Given the description of an element on the screen output the (x, y) to click on. 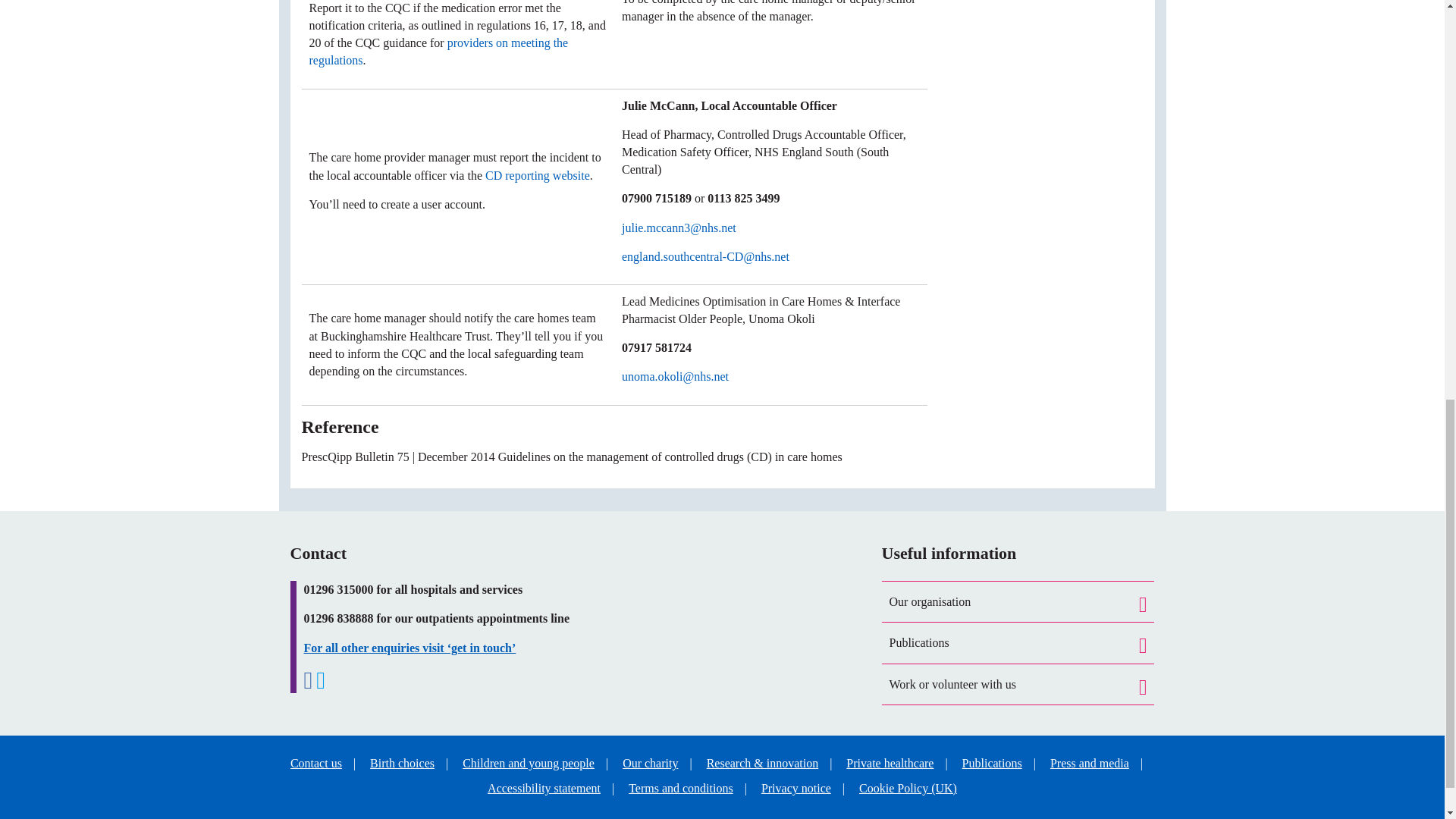
Our organisation (1017, 601)
Birth choices (401, 762)
CD reporting website (536, 174)
providers on meeting the regulations (438, 51)
Publications (1017, 642)
Contact us (315, 762)
Work or volunteer with us (1017, 684)
